Given the description of an element on the screen output the (x, y) to click on. 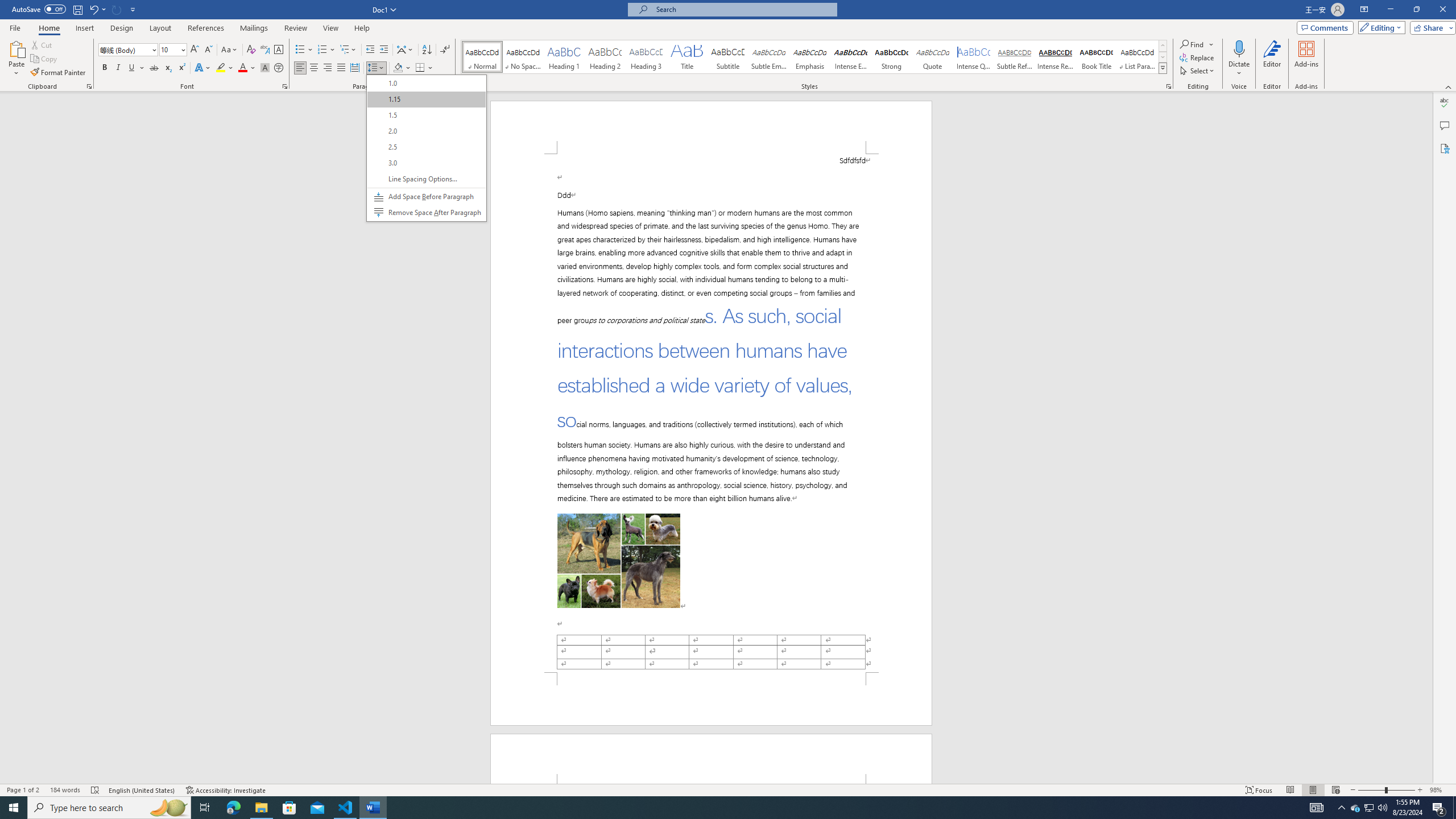
Font Color (246, 67)
Visual Studio Code - 1 running window (345, 807)
Shading RGB(0, 0, 0) (397, 67)
Morphological variation in six dogs (618, 553)
Subtle Reference (1014, 56)
Justify (340, 67)
Character Border (278, 49)
Distributed (354, 67)
Editing (1379, 27)
Action Center, 2 new notifications (1439, 807)
Select (1197, 69)
